Given the description of an element on the screen output the (x, y) to click on. 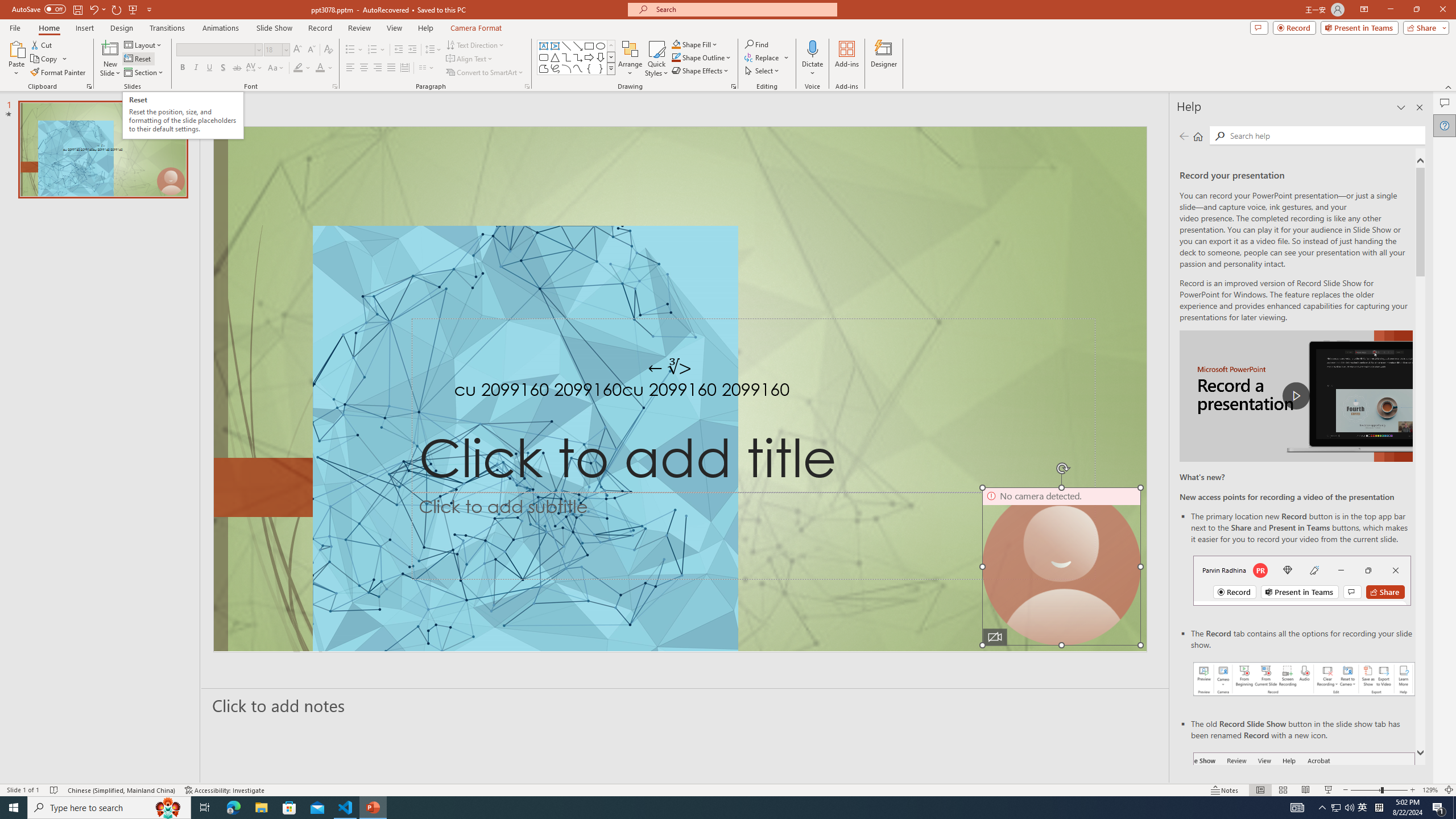
Text Highlight Color (302, 67)
Line Spacing (433, 49)
Line Arrow (577, 45)
Shape Effects (700, 69)
Font... (334, 85)
Record your presentations screenshot one (1304, 678)
Copy (49, 58)
Font Color (324, 67)
Microsoft search (742, 9)
